Given the description of an element on the screen output the (x, y) to click on. 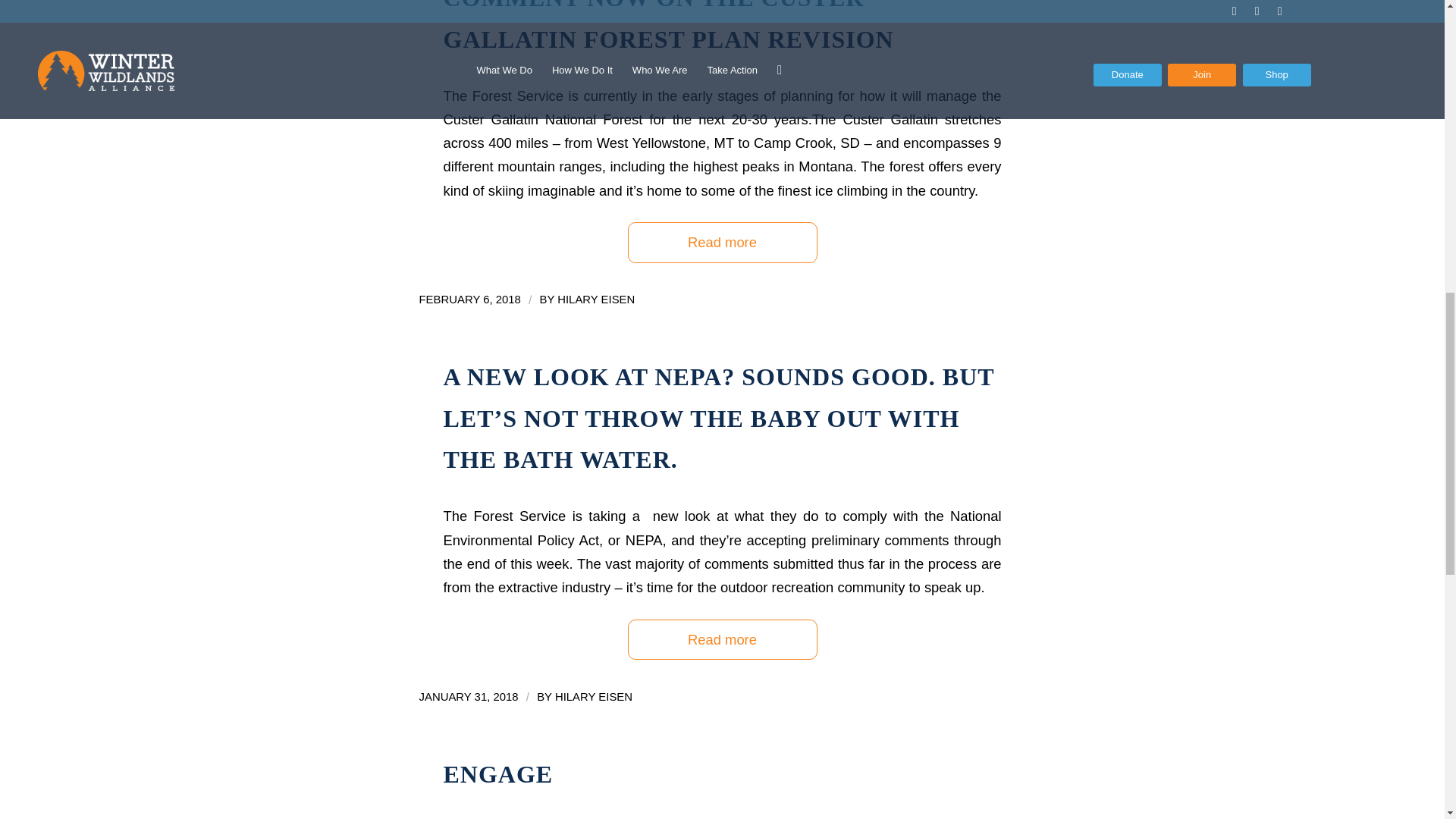
Posts by Hilary Eisen (595, 299)
Posts by Hilary Eisen (592, 696)
Permanent Link: Engage (497, 773)
